Given the description of an element on the screen output the (x, y) to click on. 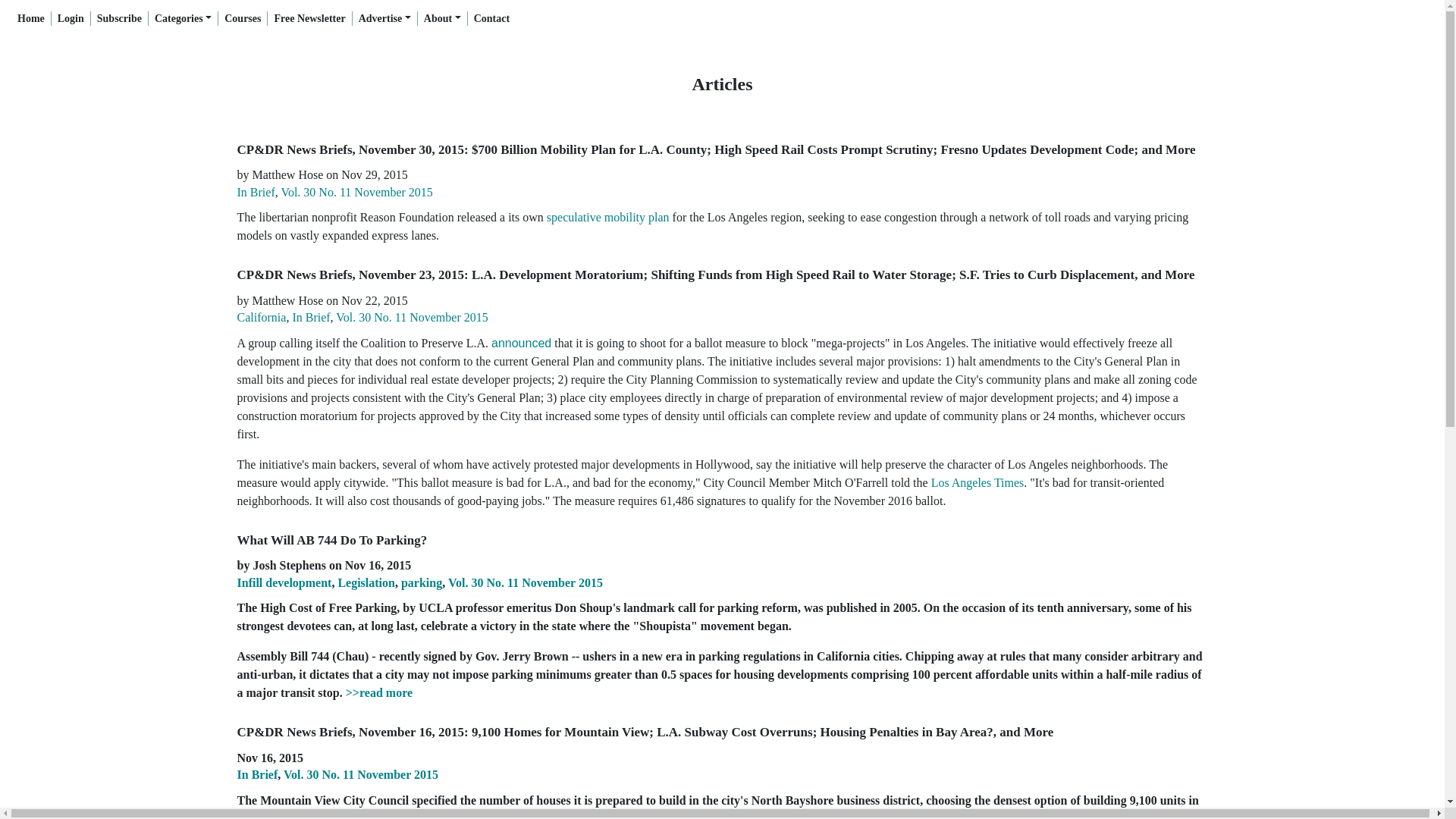
Free Newsletter (309, 18)
announced (521, 343)
Home (30, 18)
speculative mobility plan (608, 217)
In Brief (311, 317)
Los Angeles Times (978, 483)
Contact (491, 18)
In Brief (255, 192)
Courses (242, 18)
Vol. 30 No. 11 November 2015 (411, 317)
Login (70, 18)
About (442, 18)
California (260, 317)
Advertise (384, 18)
Subscribe (119, 18)
